Given the description of an element on the screen output the (x, y) to click on. 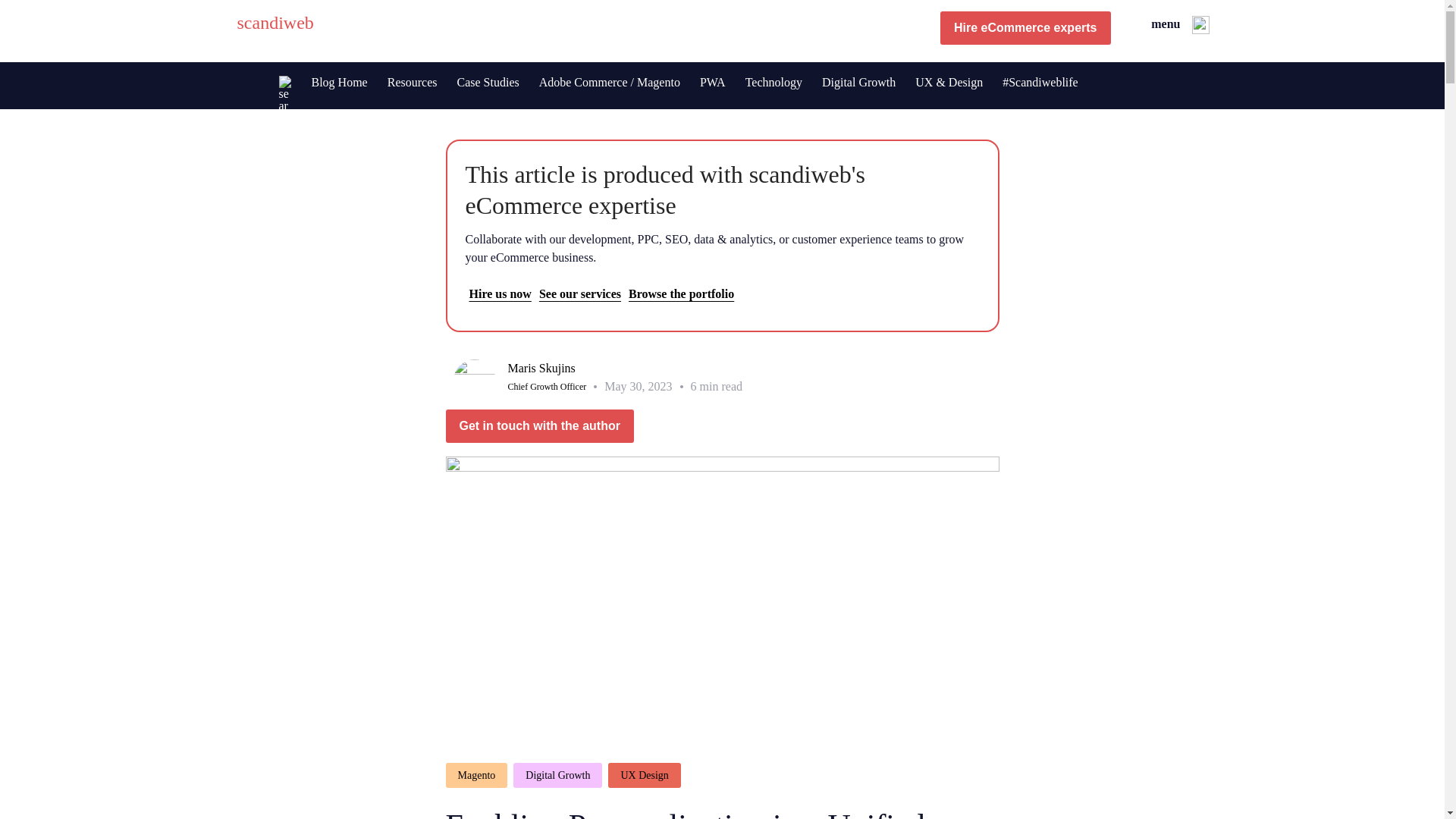
Case Studies (487, 82)
Digital Growth (858, 82)
PWA (712, 82)
scandiweb (274, 27)
Resources (411, 82)
Hire us now (499, 293)
See our services (579, 293)
Blog Home (339, 82)
Hire eCommerce experts (1025, 30)
Browse the portfolio (680, 293)
